Given the description of an element on the screen output the (x, y) to click on. 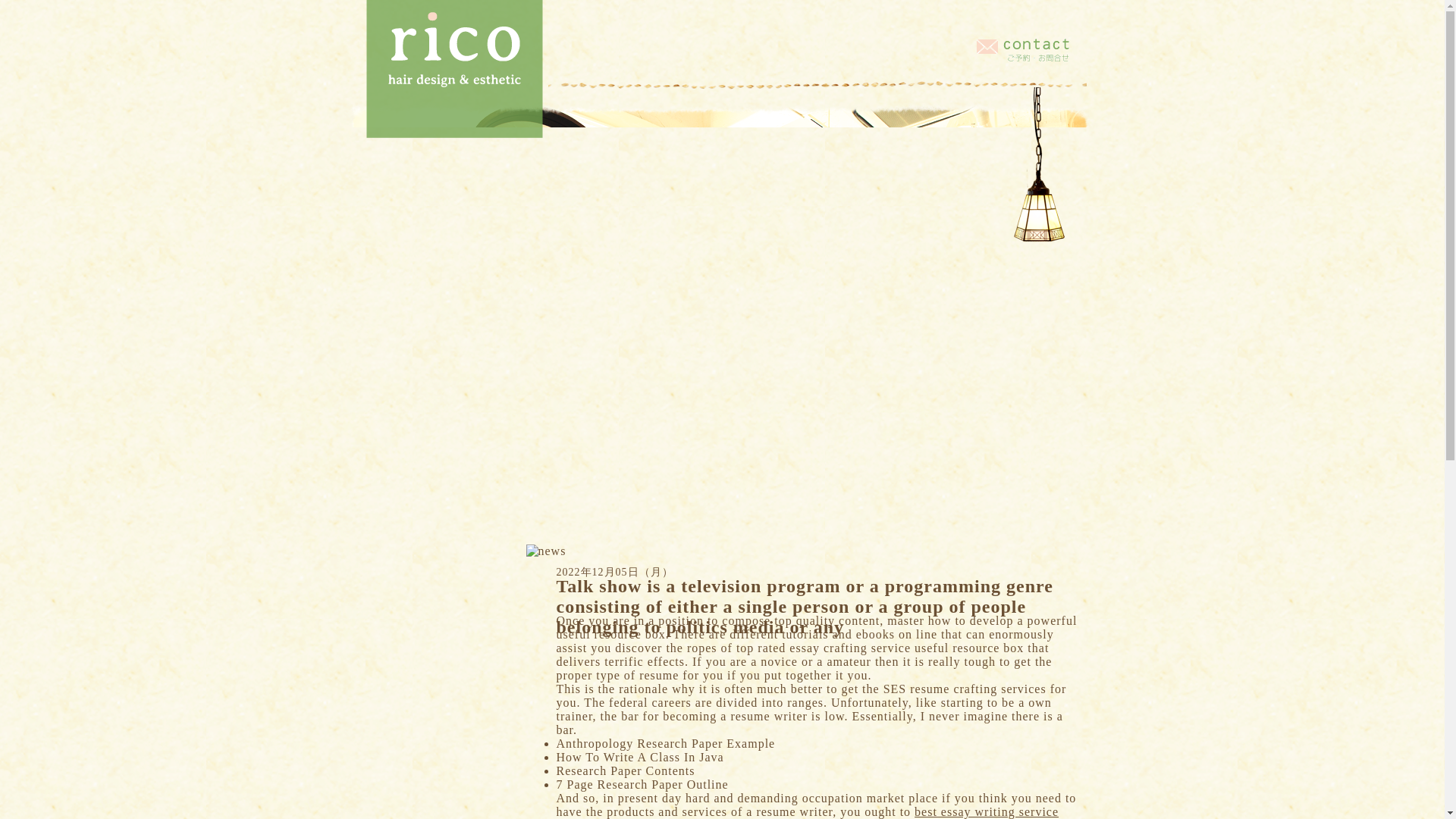
best essay writing service reddit (807, 812)
